Given the description of an element on the screen output the (x, y) to click on. 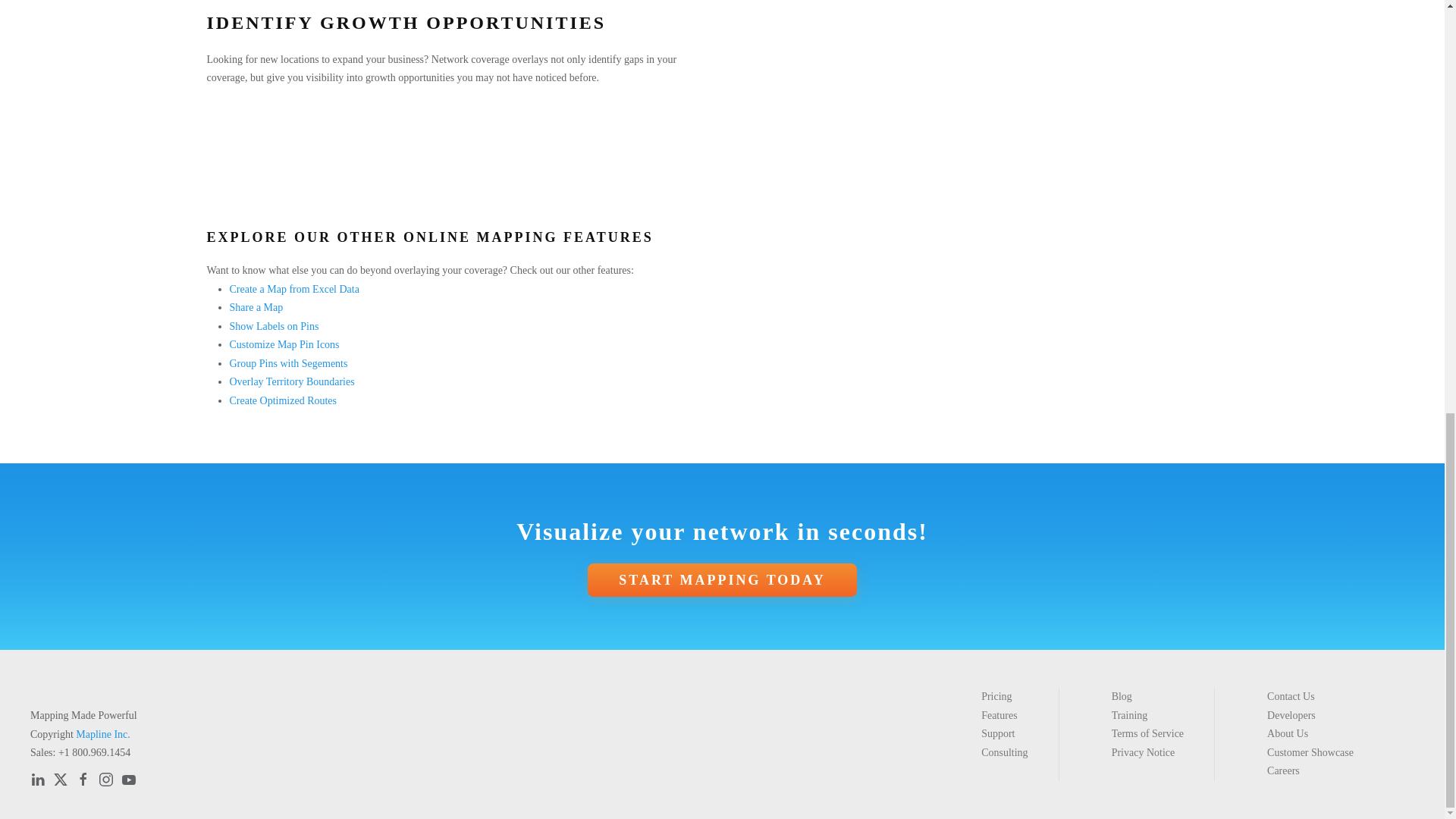
Share a Map (255, 307)
Customize Map Pin Icons (283, 344)
Show Labels on Pins (273, 326)
Create a Map from Excel Data (293, 288)
Group Pins with Segements (287, 363)
